Given the description of an element on the screen output the (x, y) to click on. 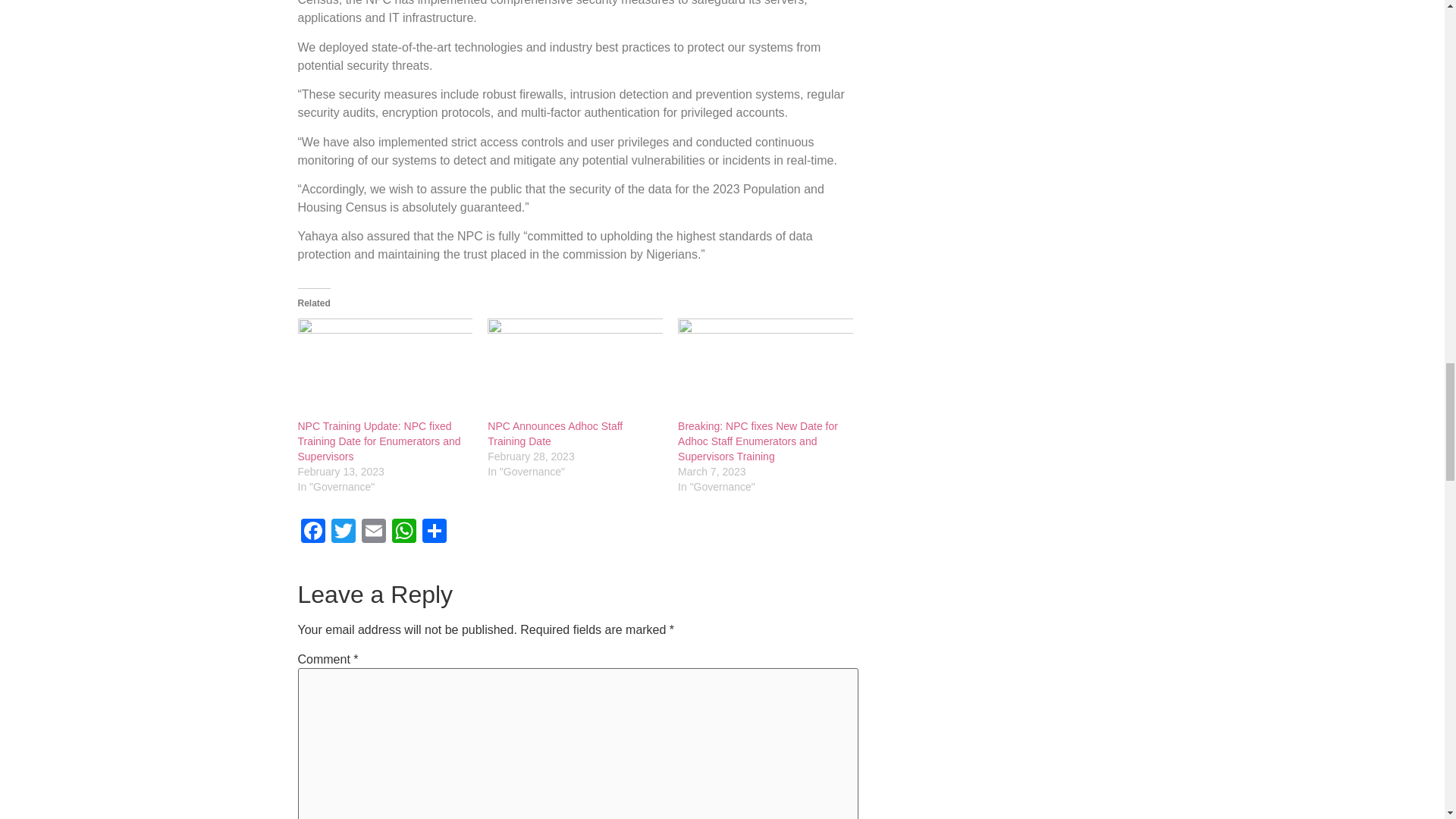
WhatsApp (403, 532)
Facebook (312, 532)
Facebook (312, 532)
NPC Announces Adhoc Staff Training Date (574, 368)
Twitter (342, 532)
NPC Announces Adhoc Staff Training Date (555, 433)
Email (373, 532)
WhatsApp (403, 532)
